Given the description of an element on the screen output the (x, y) to click on. 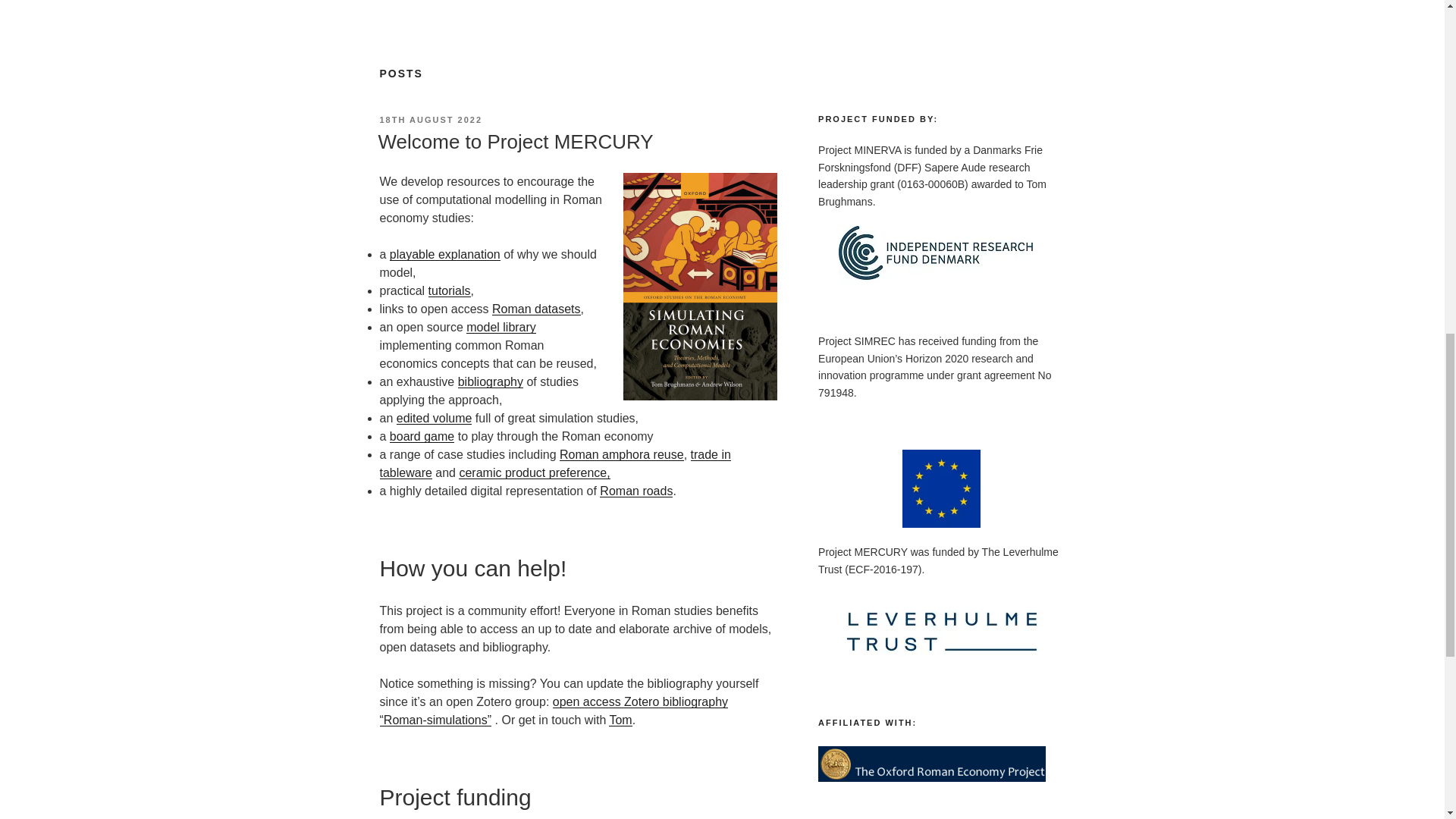
Tom (619, 719)
board game (422, 436)
Welcome to Project MERCURY (514, 141)
Roman roads (635, 490)
playable explanation (445, 254)
trade in tableware (554, 463)
bibliography (490, 381)
edited volume (433, 418)
18TH AUGUST 2022 (429, 119)
Roman amphora reuse (621, 454)
